Given the description of an element on the screen output the (x, y) to click on. 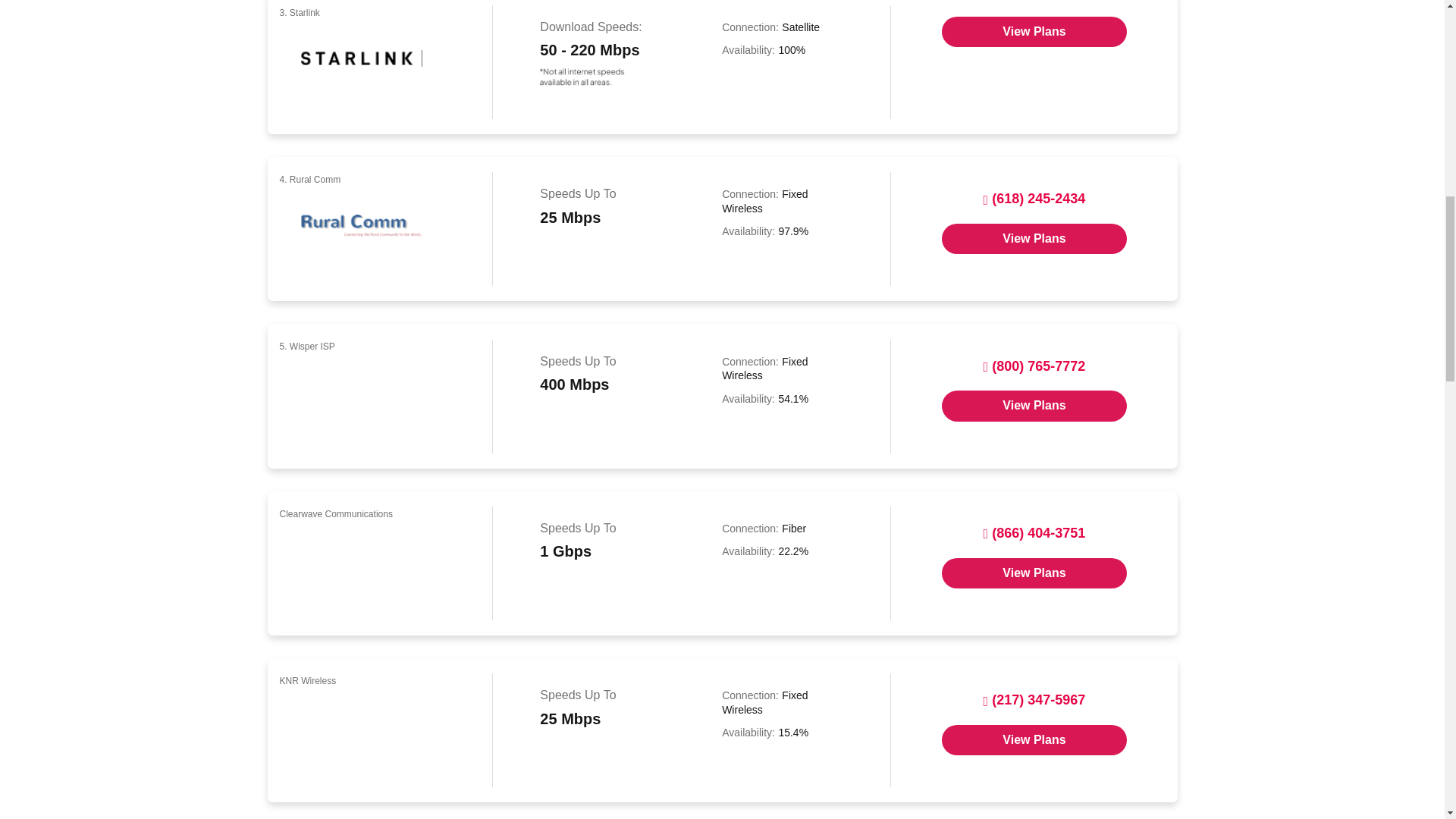
Opens in a new window (1034, 31)
